Given the description of an element on the screen output the (x, y) to click on. 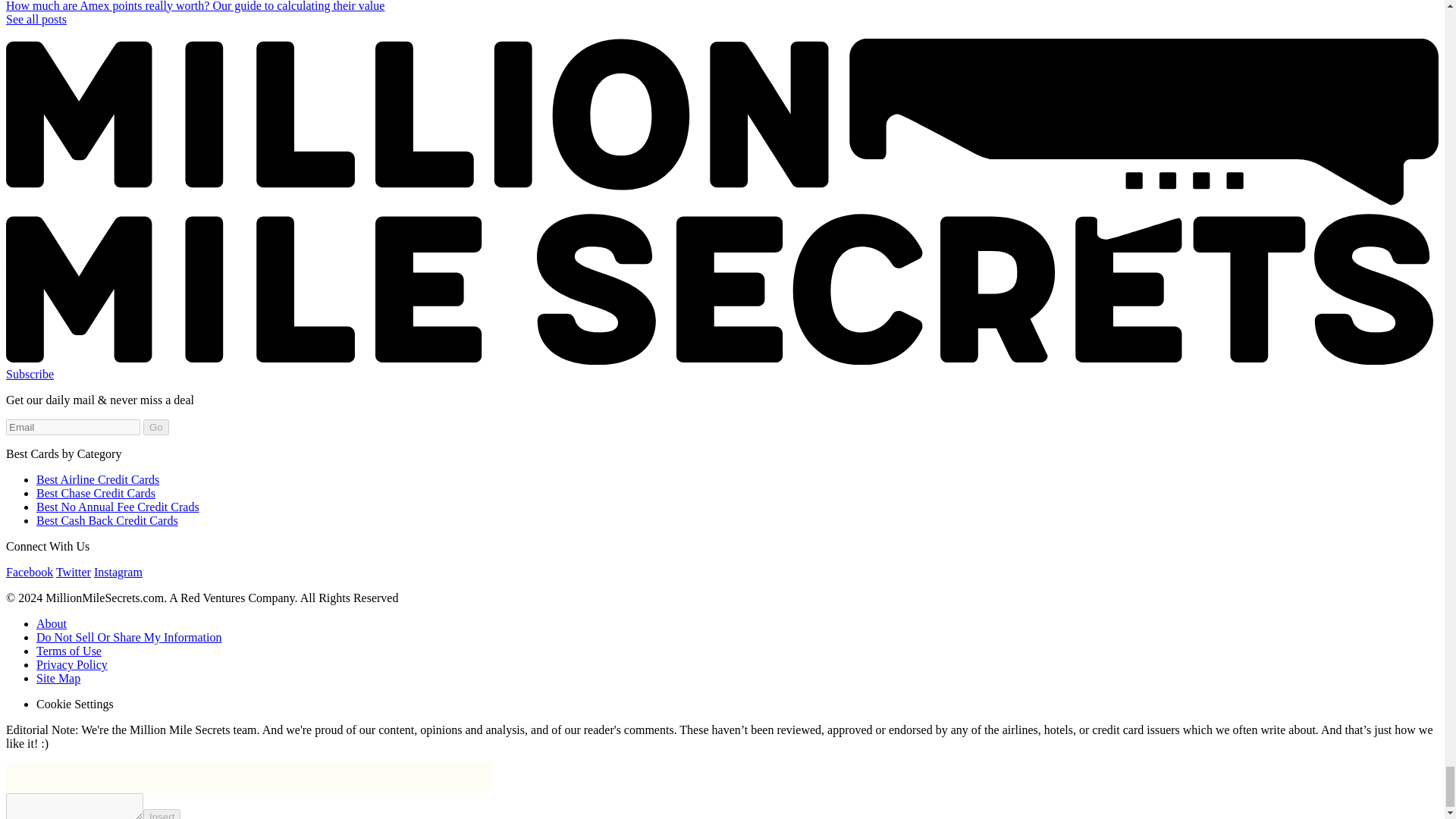
Go (155, 426)
